Given the description of an element on the screen output the (x, y) to click on. 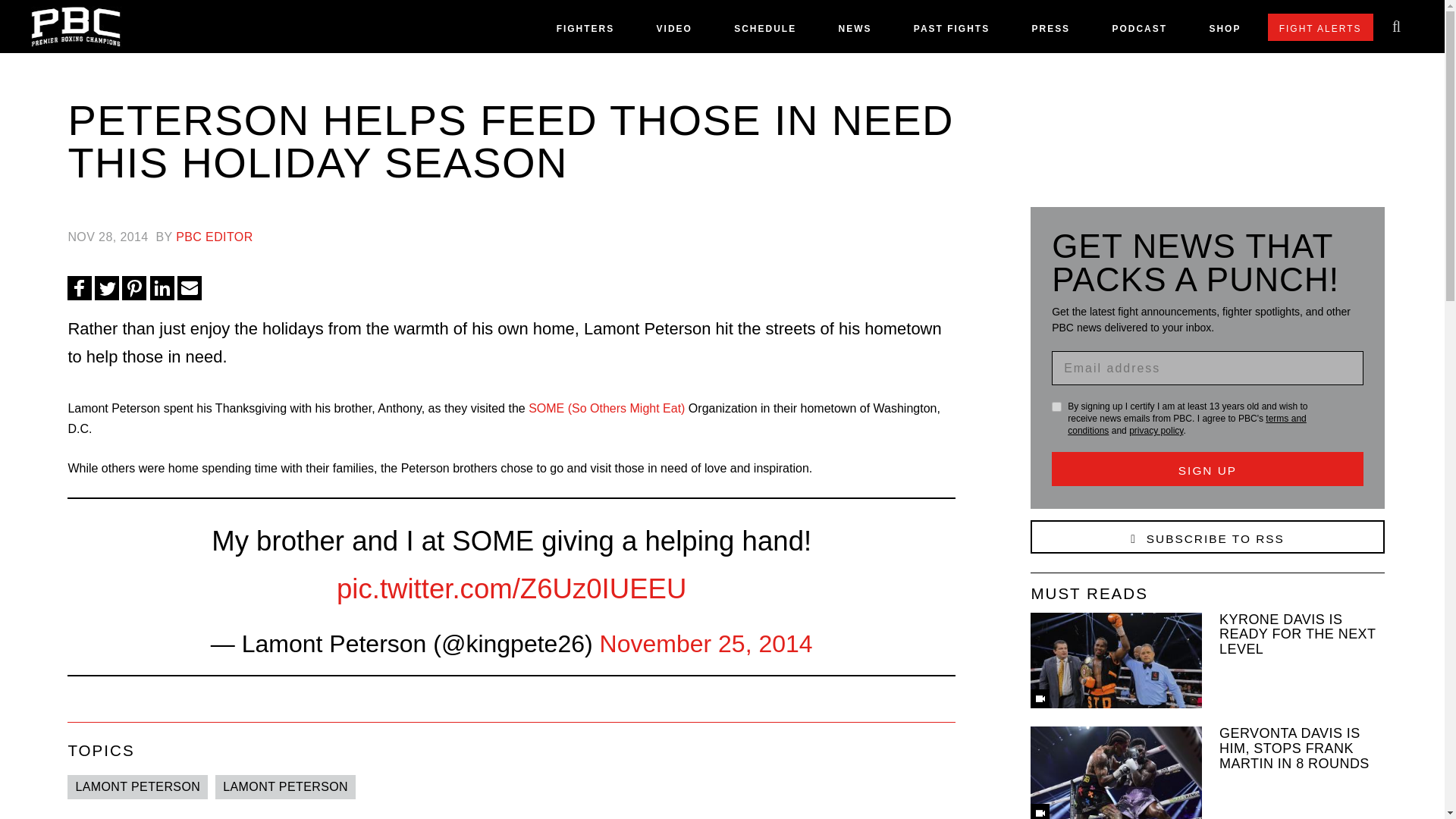
SUBSCRIBE TO RSS (1207, 536)
privacy policy (1155, 430)
PRESS (1050, 31)
Email (189, 288)
age (1056, 406)
SIGN UP (1206, 469)
SCHEDULE (764, 31)
PODCAST (1139, 31)
LAMONT PETERSON (285, 786)
terms and conditions (1186, 424)
LinkedIn (161, 288)
Twitter (106, 288)
PAST FIGHTS (952, 31)
VIDEO (674, 31)
Email (189, 288)
